Given the description of an element on the screen output the (x, y) to click on. 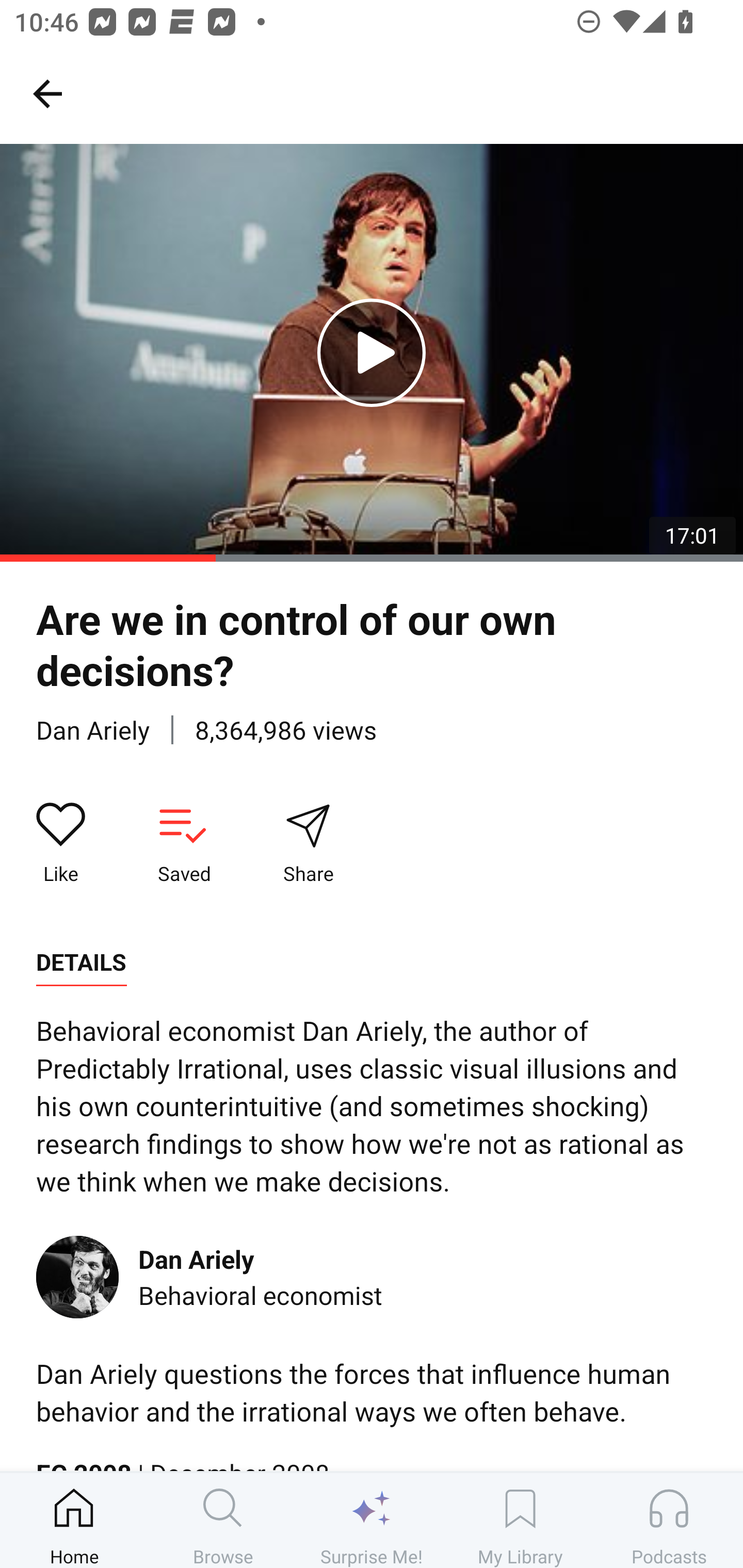
Home, back (47, 92)
Like (60, 843)
Saved (183, 843)
Share (308, 843)
DETAILS (80, 962)
Home (74, 1520)
Browse (222, 1520)
Surprise Me! (371, 1520)
My Library (519, 1520)
Podcasts (668, 1520)
